Given the description of an element on the screen output the (x, y) to click on. 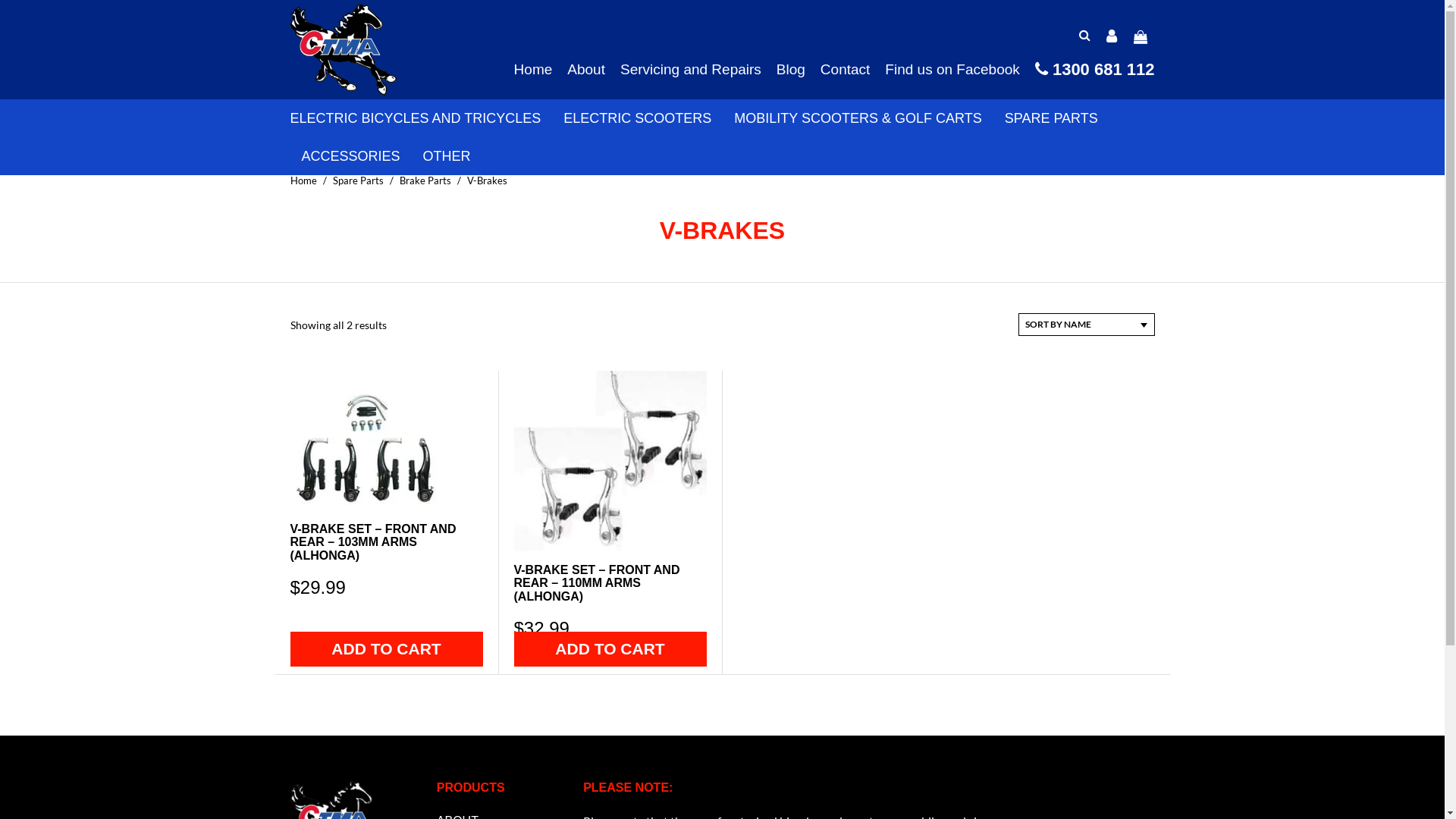
Brake Parts Element type: text (424, 180)
ELECTRIC SCOOTERS Element type: text (637, 118)
MOBILITY SCOOTERS & GOLF CARTS Element type: text (857, 118)
ADD TO CART Element type: text (385, 648)
Spare Parts Element type: text (357, 180)
Contact Element type: text (844, 68)
ADD TO CART Element type: text (610, 648)
Servicing and Repairs Element type: text (690, 68)
Chituma Electric Bicycles Element type: hover (342, 49)
Home Element type: text (302, 180)
SPARE PARTS Element type: text (1051, 118)
About Element type: text (585, 68)
OTHER Element type: text (446, 156)
ELECTRIC BICYCLES AND TRICYCLES Element type: text (414, 118)
Home Element type: text (533, 68)
View your shopping bag Element type: hover (1139, 35)
Find us on Facebook Element type: text (951, 68)
Blog Element type: text (790, 68)
ACCESSORIES Element type: text (350, 156)
